Given the description of an element on the screen output the (x, y) to click on. 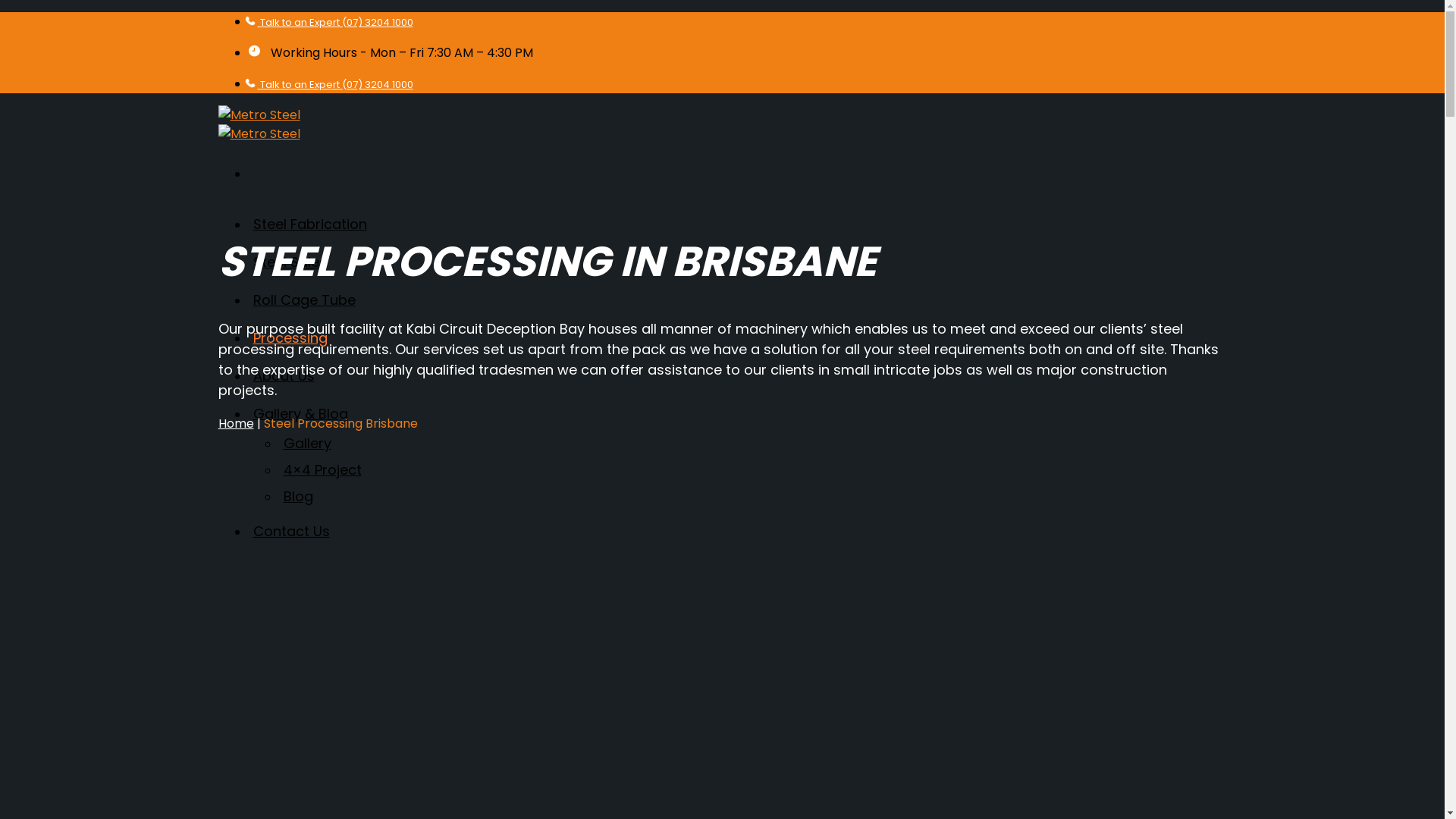
Steel Fabrication Element type: text (309, 223)
Talk to an Expert (07) 3204 1000 Element type: text (330, 84)
Gallery & Blog Element type: text (300, 413)
Home Element type: text (236, 423)
Processing Element type: text (290, 337)
Blog Element type: text (298, 499)
Talk to an Expert (07) 3204 1000 Element type: text (330, 22)
Steel Sales Element type: text (289, 261)
Gallery Element type: text (307, 446)
Contact Us Element type: text (291, 530)
About Us Element type: text (283, 375)
Roll Cage Tube Element type: text (304, 299)
